Given the description of an element on the screen output the (x, y) to click on. 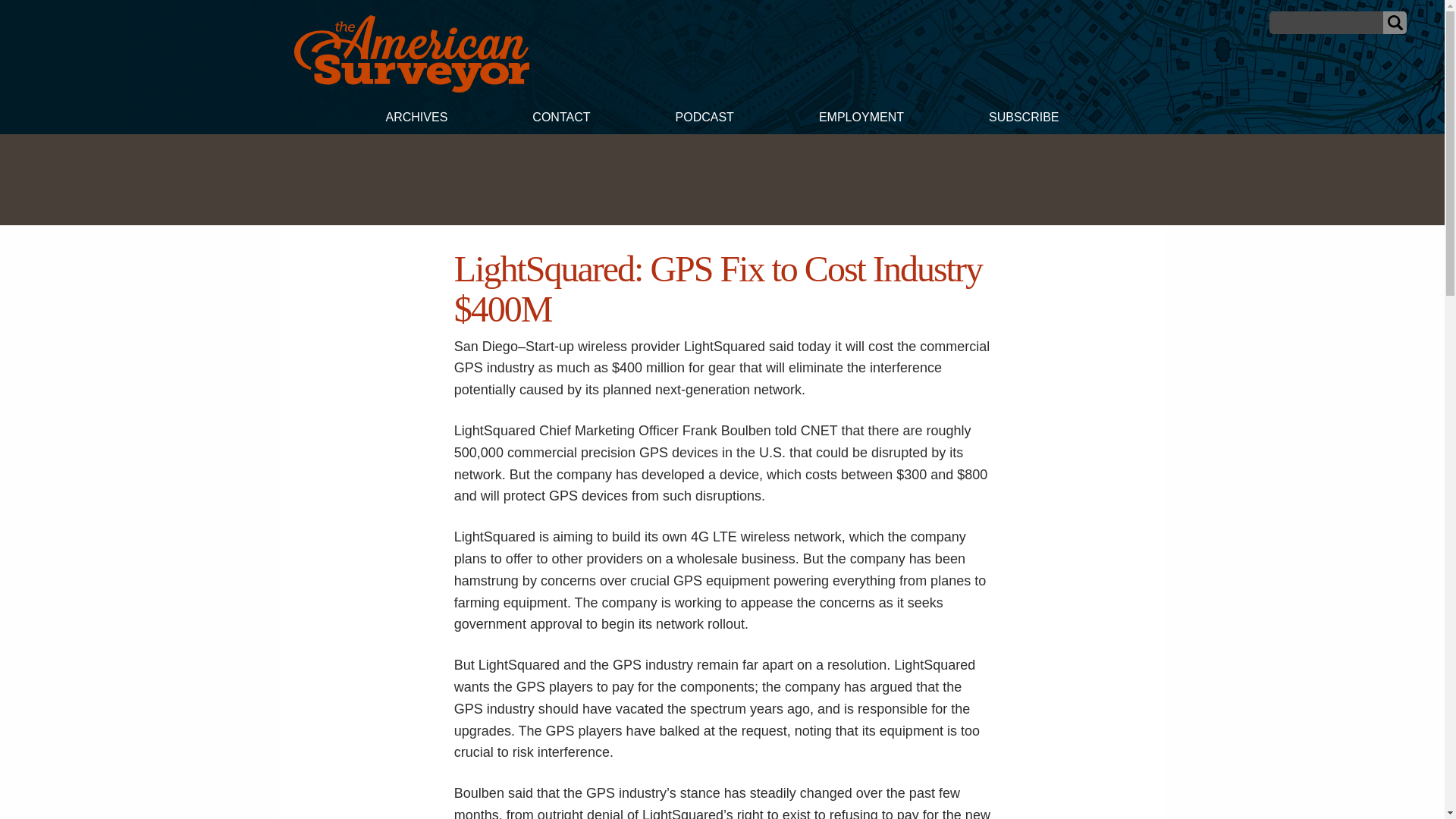
EMPLOYMENT (861, 119)
PODCAST (704, 119)
The American Surveyor (411, 53)
CONTACT (560, 119)
Submit (1394, 22)
Search for: (1326, 22)
3rd party ad content (721, 179)
ARCHIVES (415, 119)
The American Surveyor (411, 88)
Submit (1394, 22)
Submit (1394, 22)
SUBSCRIBE (1024, 119)
